Given the description of an element on the screen output the (x, y) to click on. 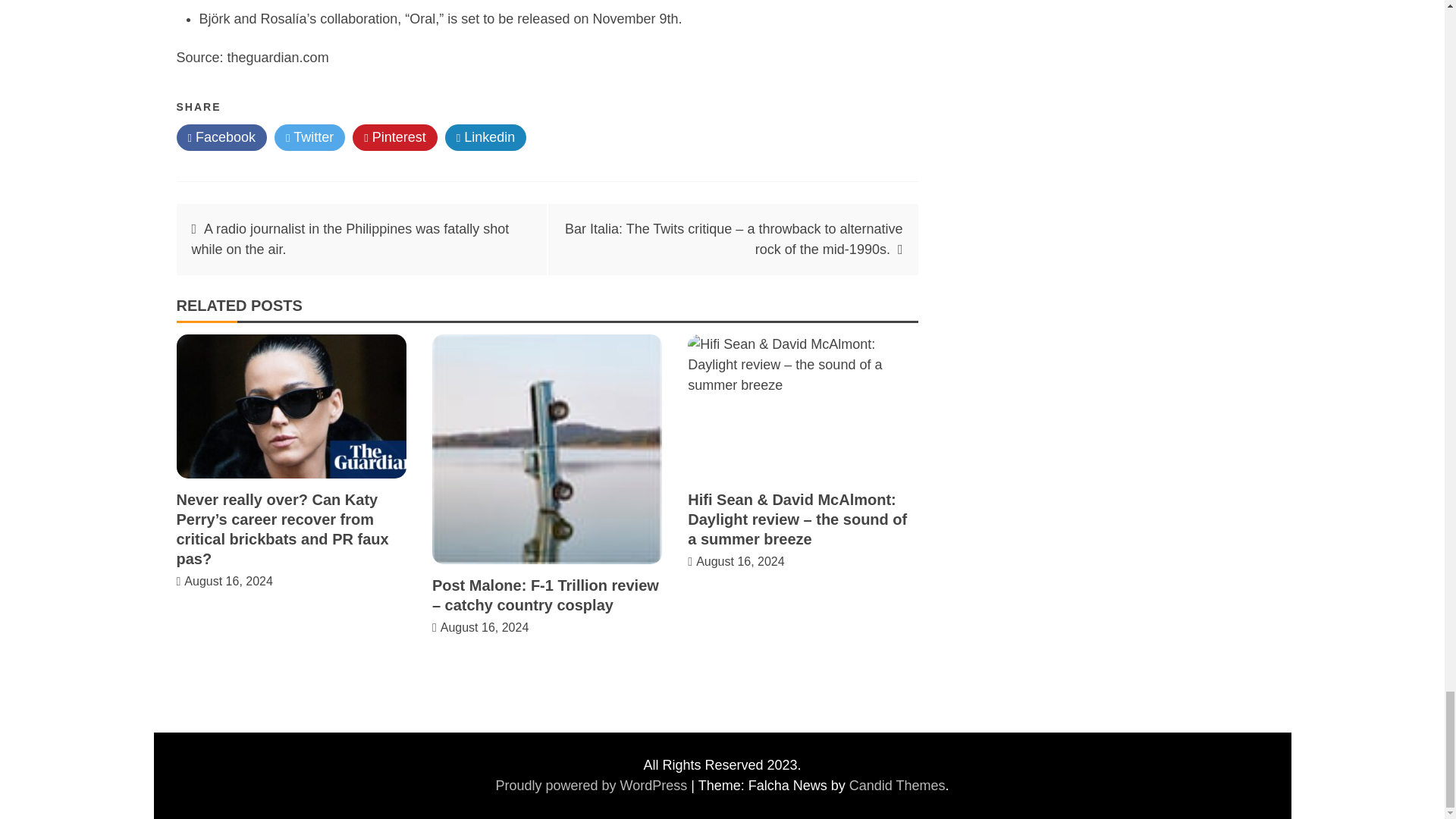
Linkedin (486, 137)
August 16, 2024 (485, 626)
Twitter (310, 137)
August 16, 2024 (228, 581)
Facebook (221, 137)
August 16, 2024 (739, 561)
Pinterest (395, 137)
